Given the description of an element on the screen output the (x, y) to click on. 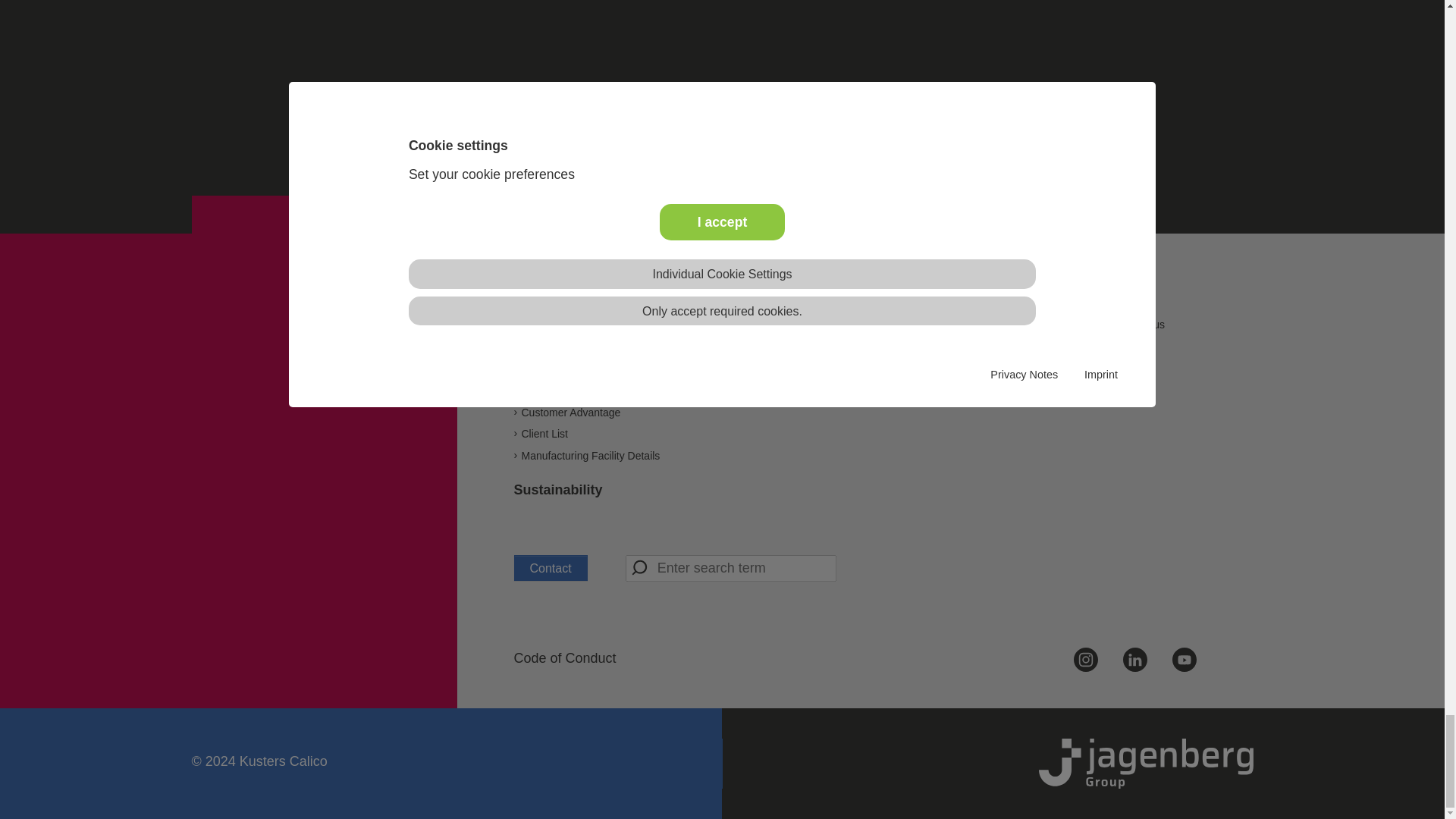
Send (639, 567)
